Given the description of an element on the screen output the (x, y) to click on. 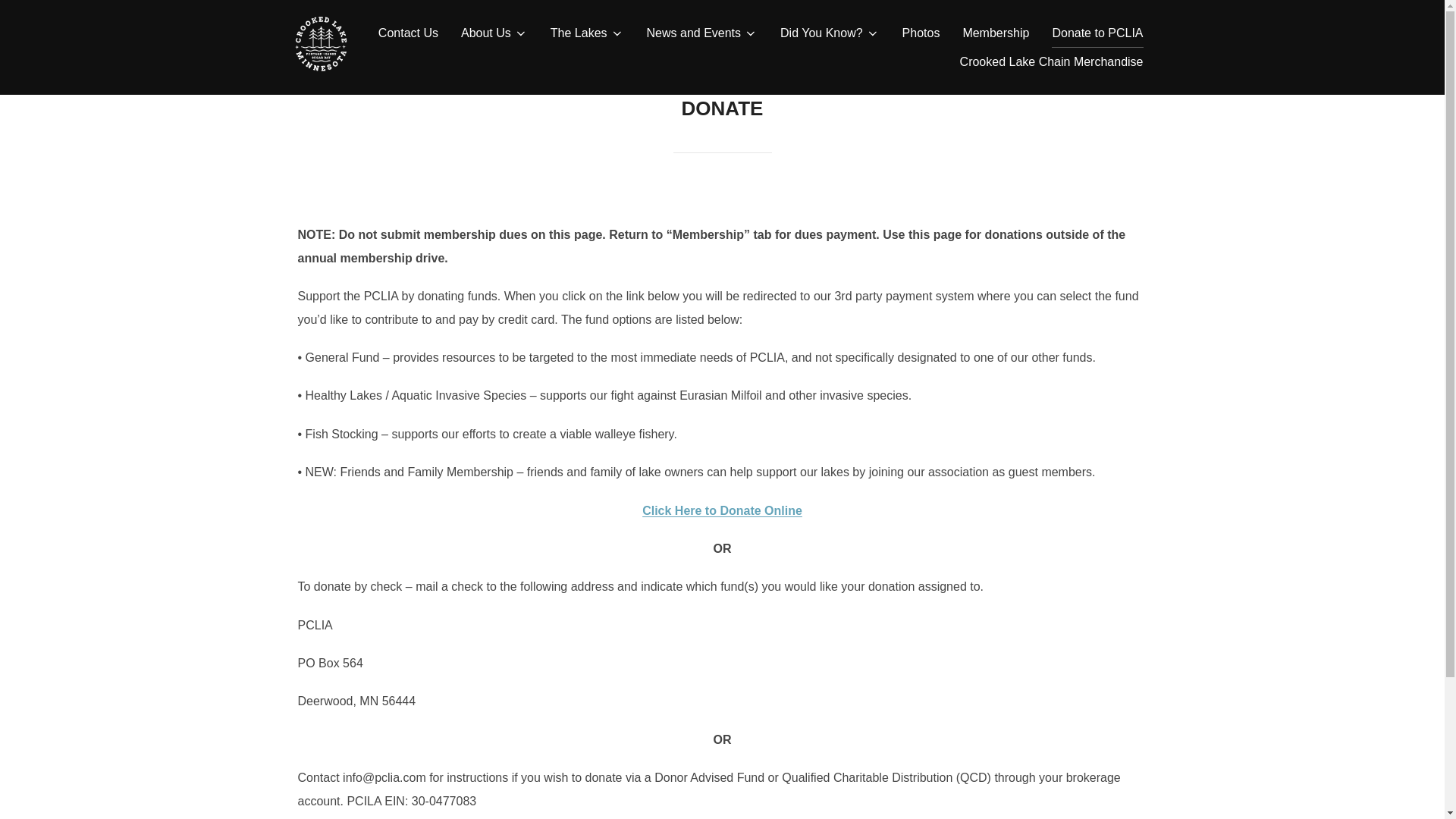
Contact Us (408, 32)
News and Events (702, 32)
The Lakes (587, 32)
About Us (494, 32)
